Given the description of an element on the screen output the (x, y) to click on. 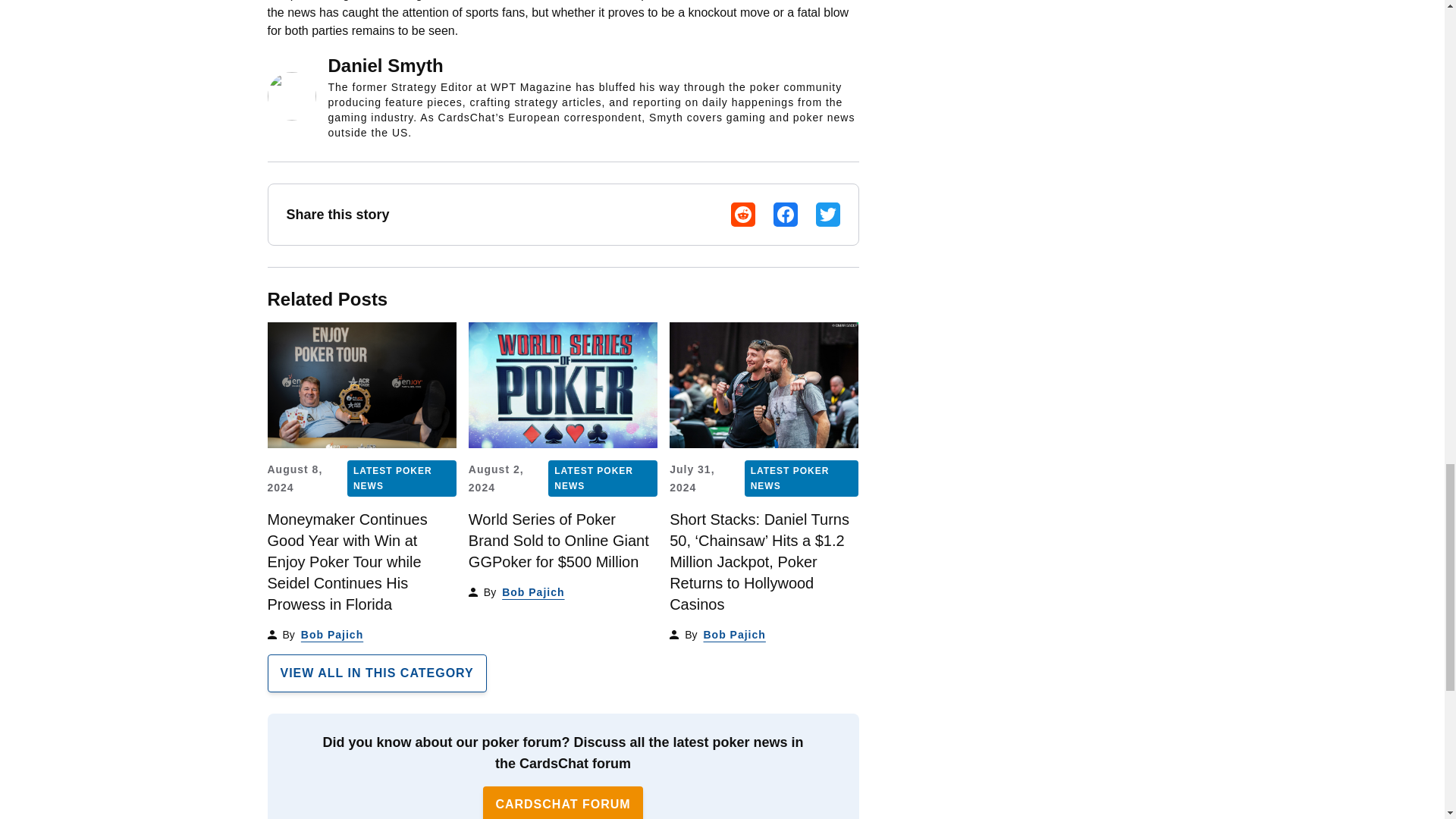
Share on Reddit (742, 214)
Share on Twitter (827, 214)
Share on Facebook (785, 214)
